Given the description of an element on the screen output the (x, y) to click on. 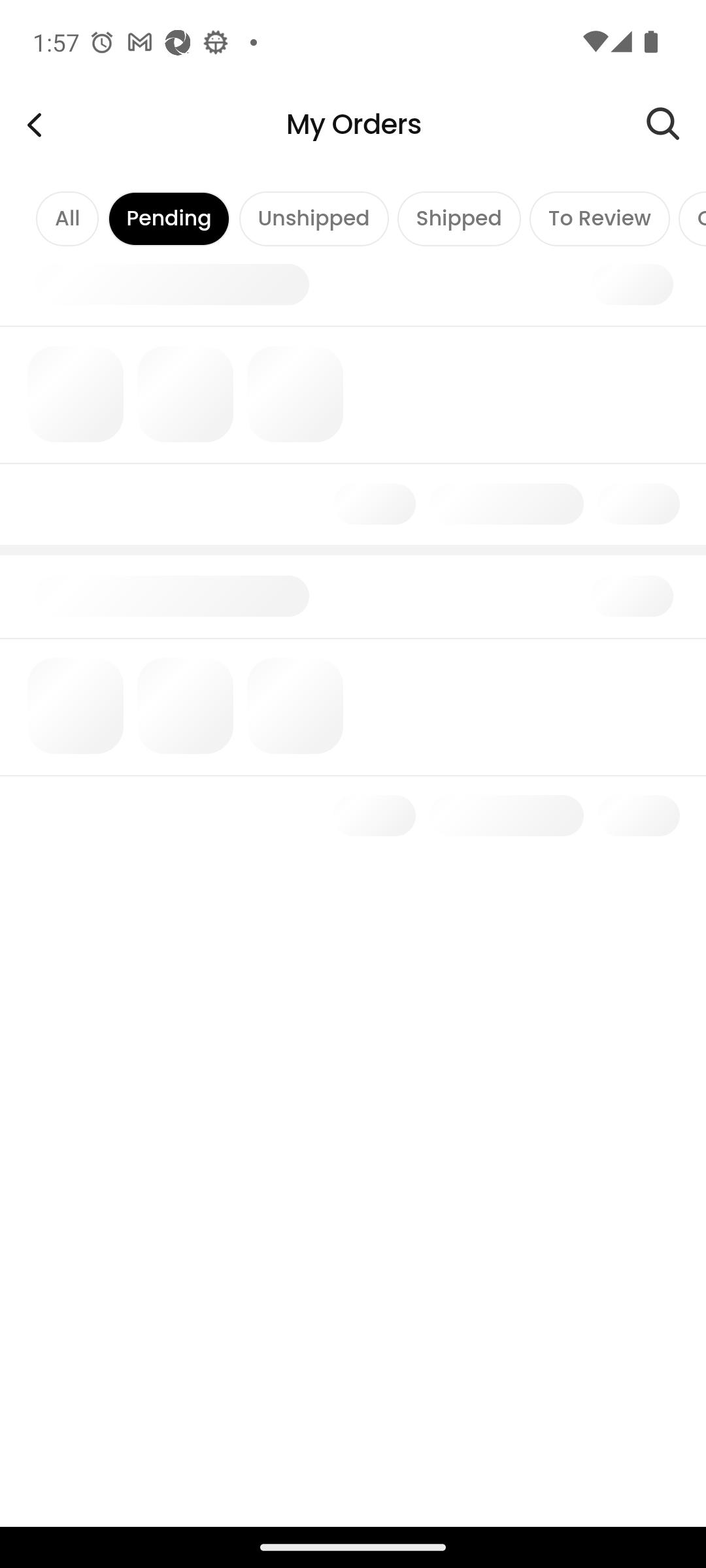
Weee! - Groceries Delivered (33, 124)
 (675, 124)
All (66, 218)
Pending (168, 218)
Unshipped (313, 218)
Shipped (458, 218)
To Review (599, 218)
